Given the description of an element on the screen output the (x, y) to click on. 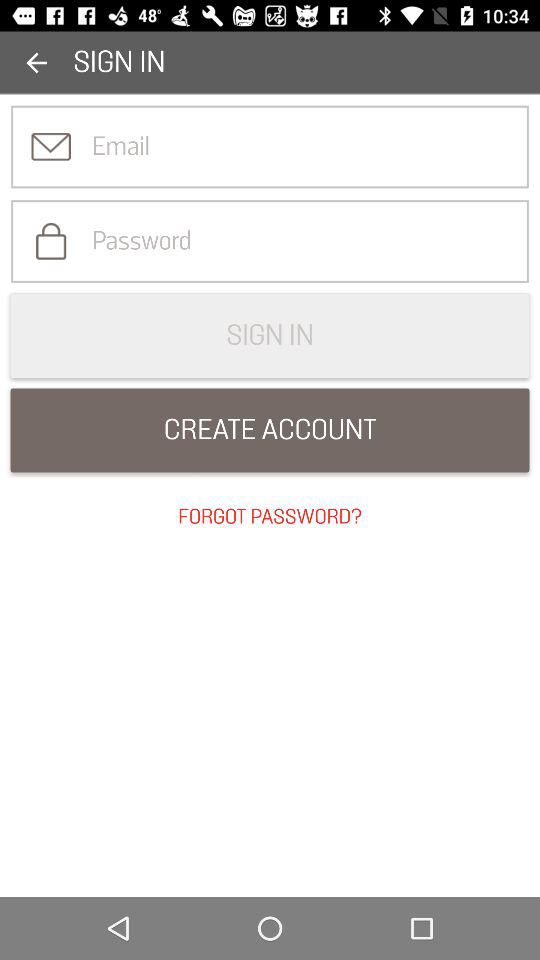
jump until create account item (269, 430)
